Given the description of an element on the screen output the (x, y) to click on. 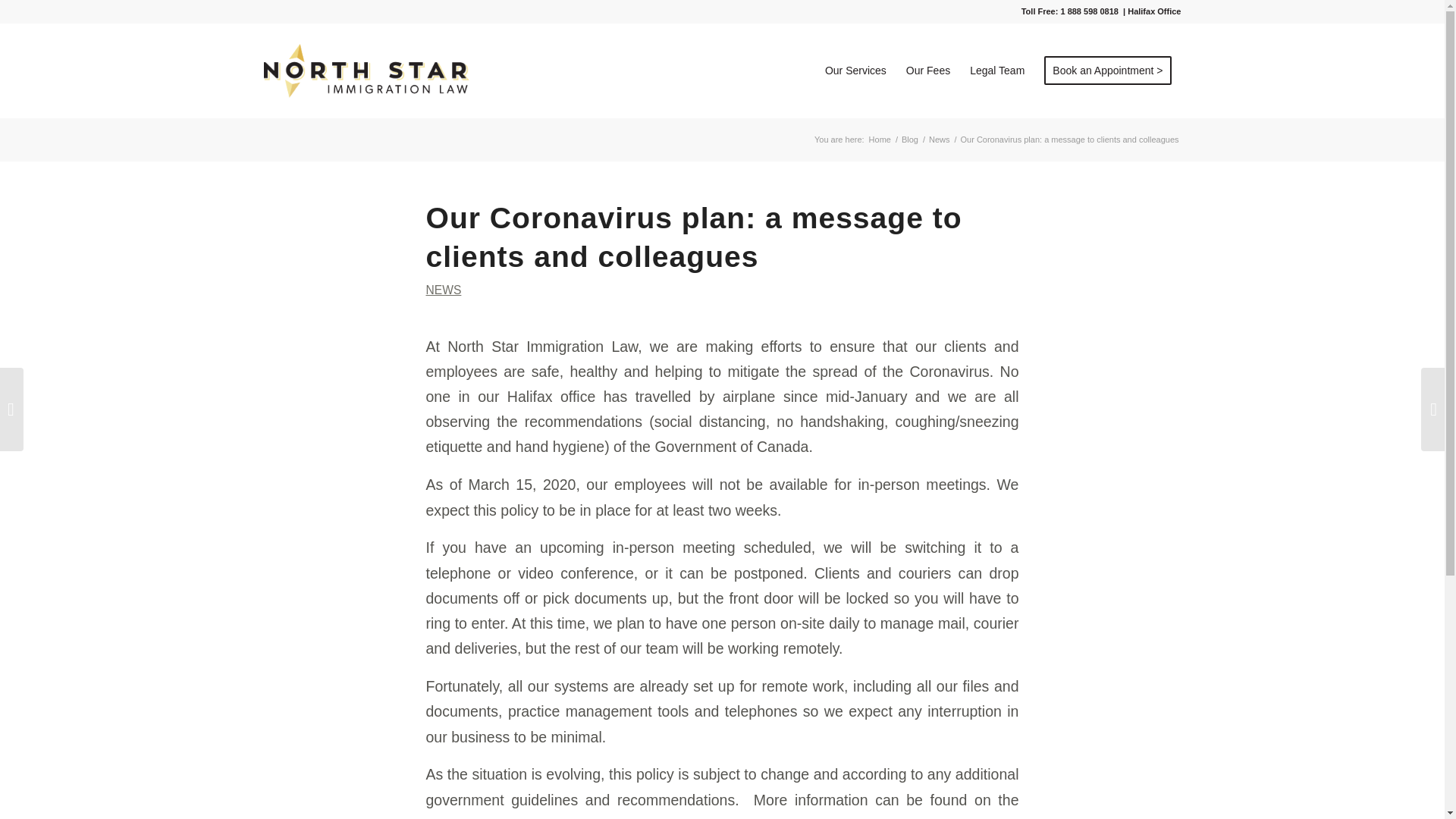
North Star Immigration Law (879, 139)
Government of Canada website (530, 817)
Blog (909, 139)
Home (879, 139)
1 888 598 0818 (1088, 10)
Our Coronavirus plan: a message to clients and colleagues (694, 236)
NEWS (443, 289)
Halifax Office (1153, 10)
Blog (909, 139)
News (939, 139)
